Given the description of an element on the screen output the (x, y) to click on. 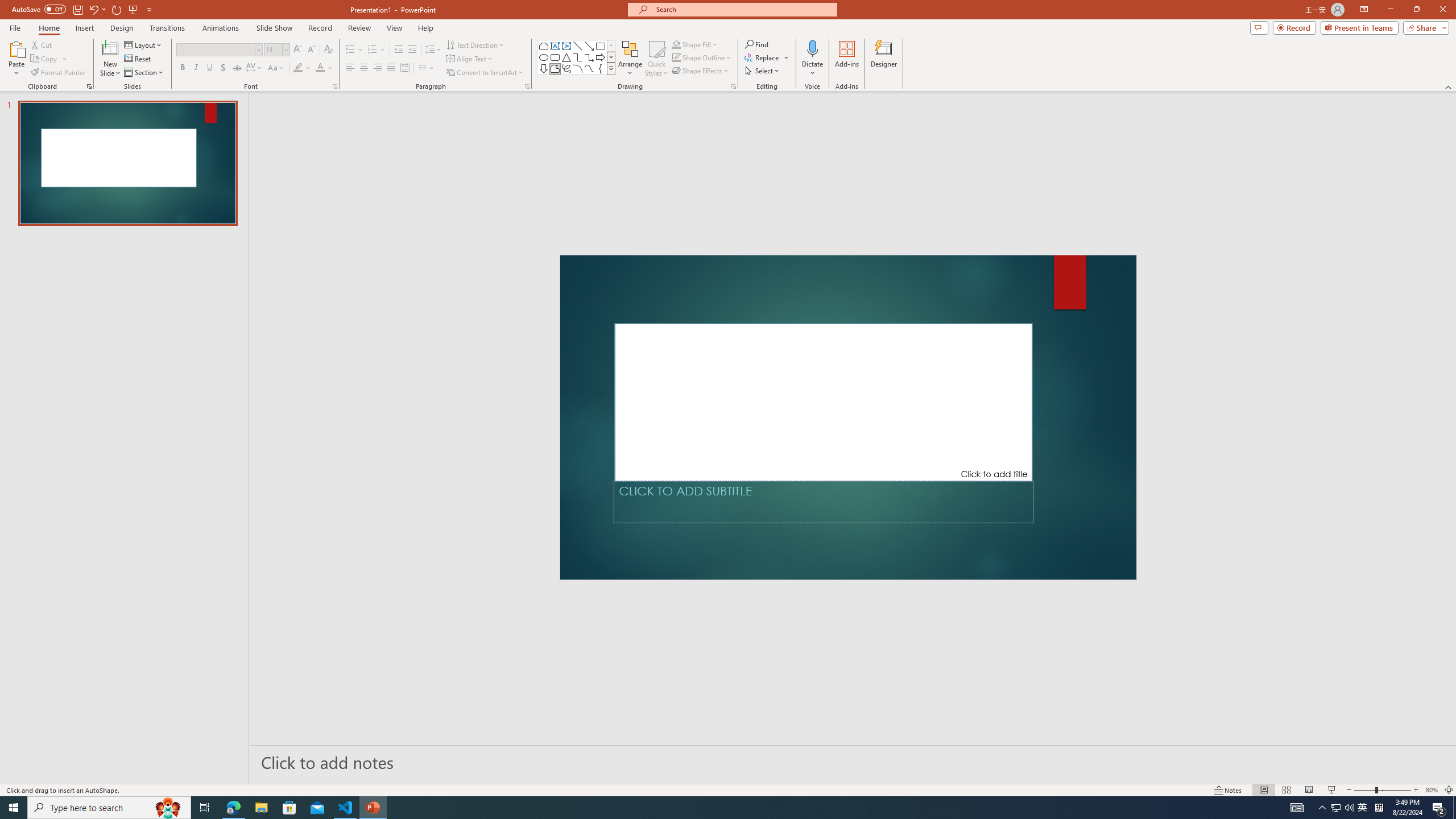
Shape Outline Blue, Accent 1 (675, 56)
